Given the description of an element on the screen output the (x, y) to click on. 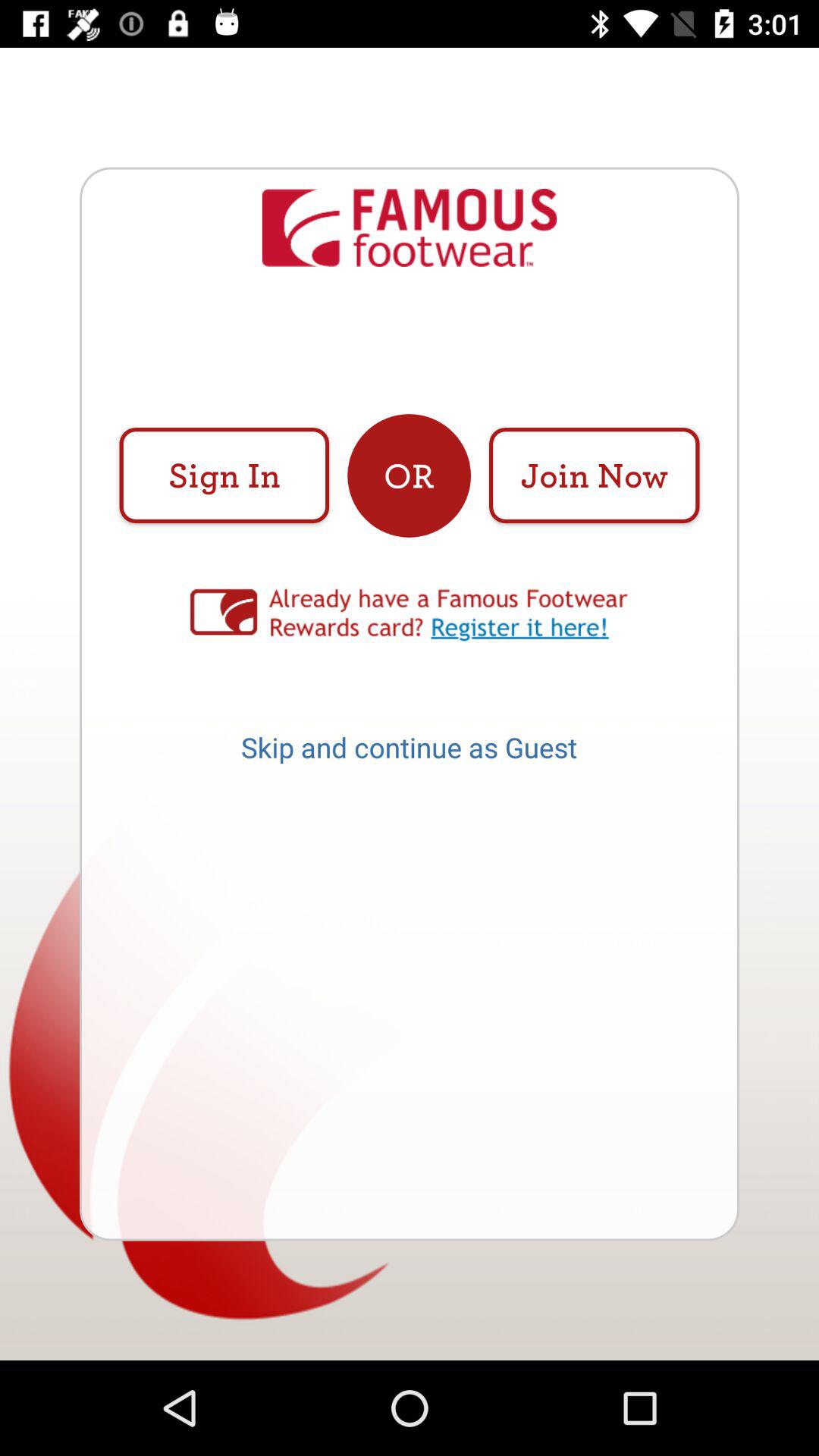
turn off skip and continue (409, 752)
